Given the description of an element on the screen output the (x, y) to click on. 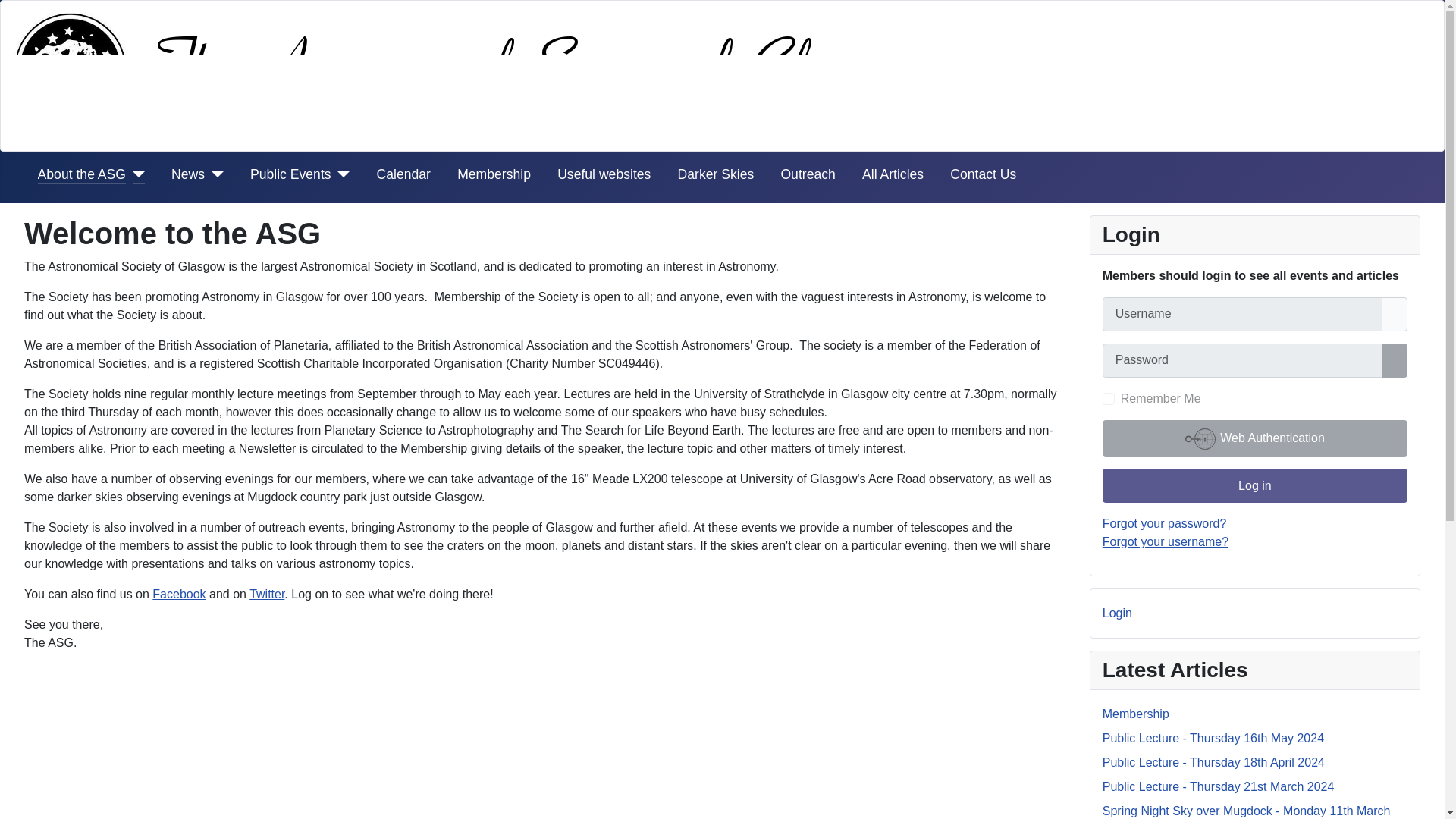
Membership (1135, 713)
Web Authentication (1254, 438)
Outreach (807, 174)
yes (1108, 398)
Darker Skies (716, 174)
Public Lecture - Thursday 18th April 2024 (1213, 762)
Facebook (178, 594)
Forgot your password? (1164, 522)
Public Lecture - Thursday 21st March 2024 (1218, 786)
Spring Night Sky over Mugdock - Monday 11th March 2024 (1246, 811)
Twitter (265, 594)
Log in (1254, 485)
Web Authentication (1254, 438)
Public Lecture - Thursday 16th May 2024 (1212, 738)
Membership (494, 174)
